Given the description of an element on the screen output the (x, y) to click on. 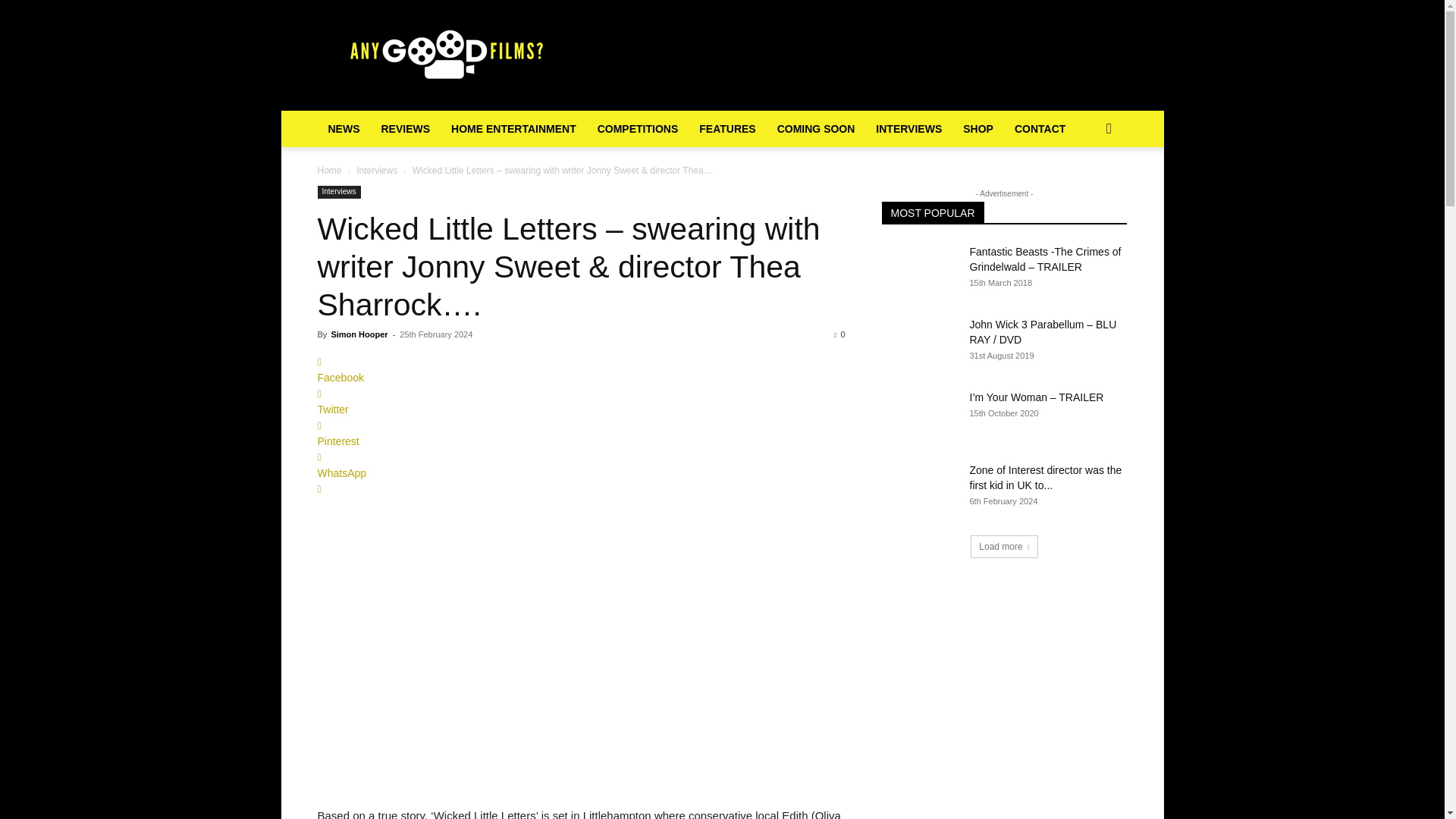
Twitter (580, 401)
COMPETITIONS (637, 128)
INTERVIEWS (908, 128)
COMING SOON (816, 128)
View all posts in Interviews (376, 170)
HOME ENTERTAINMENT (513, 128)
Pinterest (580, 433)
Pinterest (580, 433)
Search (1085, 189)
Home (328, 170)
